Given the description of an element on the screen output the (x, y) to click on. 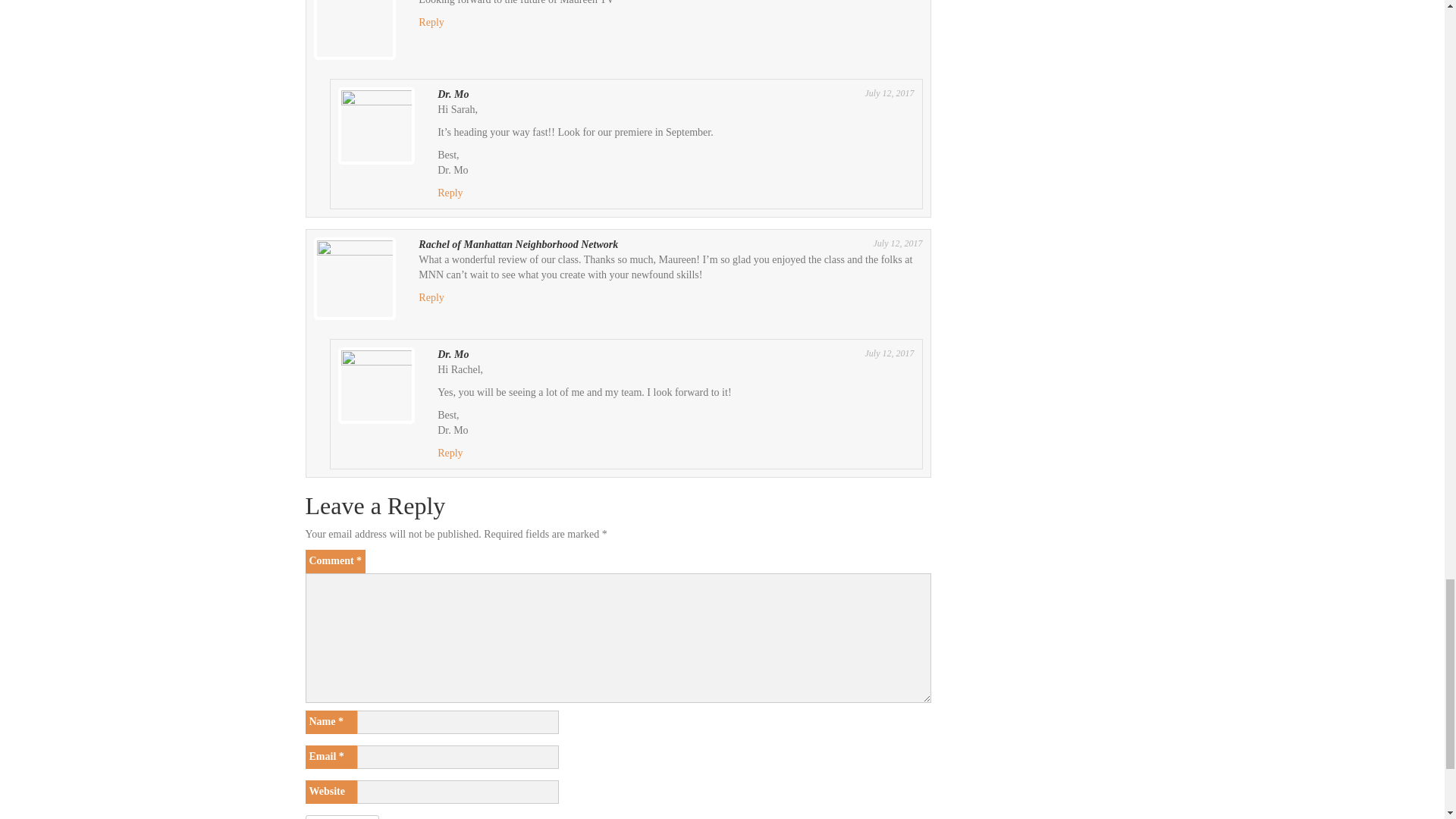
Post Comment (341, 816)
Reply (431, 297)
Reply (450, 452)
Post Comment (341, 816)
Reply (431, 21)
Reply (450, 193)
